Given the description of an element on the screen output the (x, y) to click on. 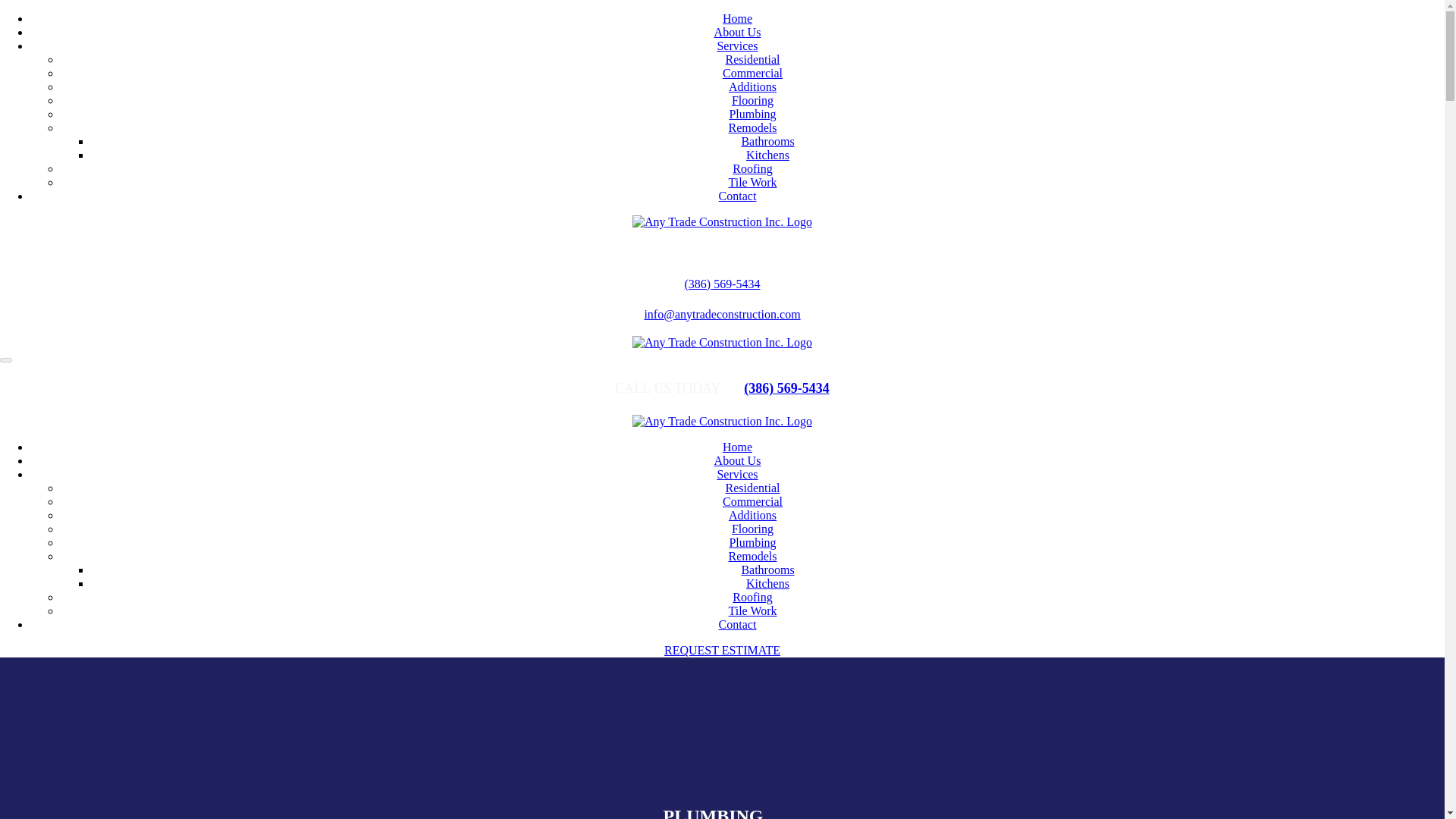
REQUEST ESTIMATE (721, 649)
Plumbing (752, 542)
Additions (752, 514)
Tile Work (752, 610)
Remodels (752, 127)
Bathrooms (767, 569)
Bathrooms (767, 141)
Commercial (752, 72)
Services (736, 473)
Remodels (752, 555)
